Given the description of an element on the screen output the (x, y) to click on. 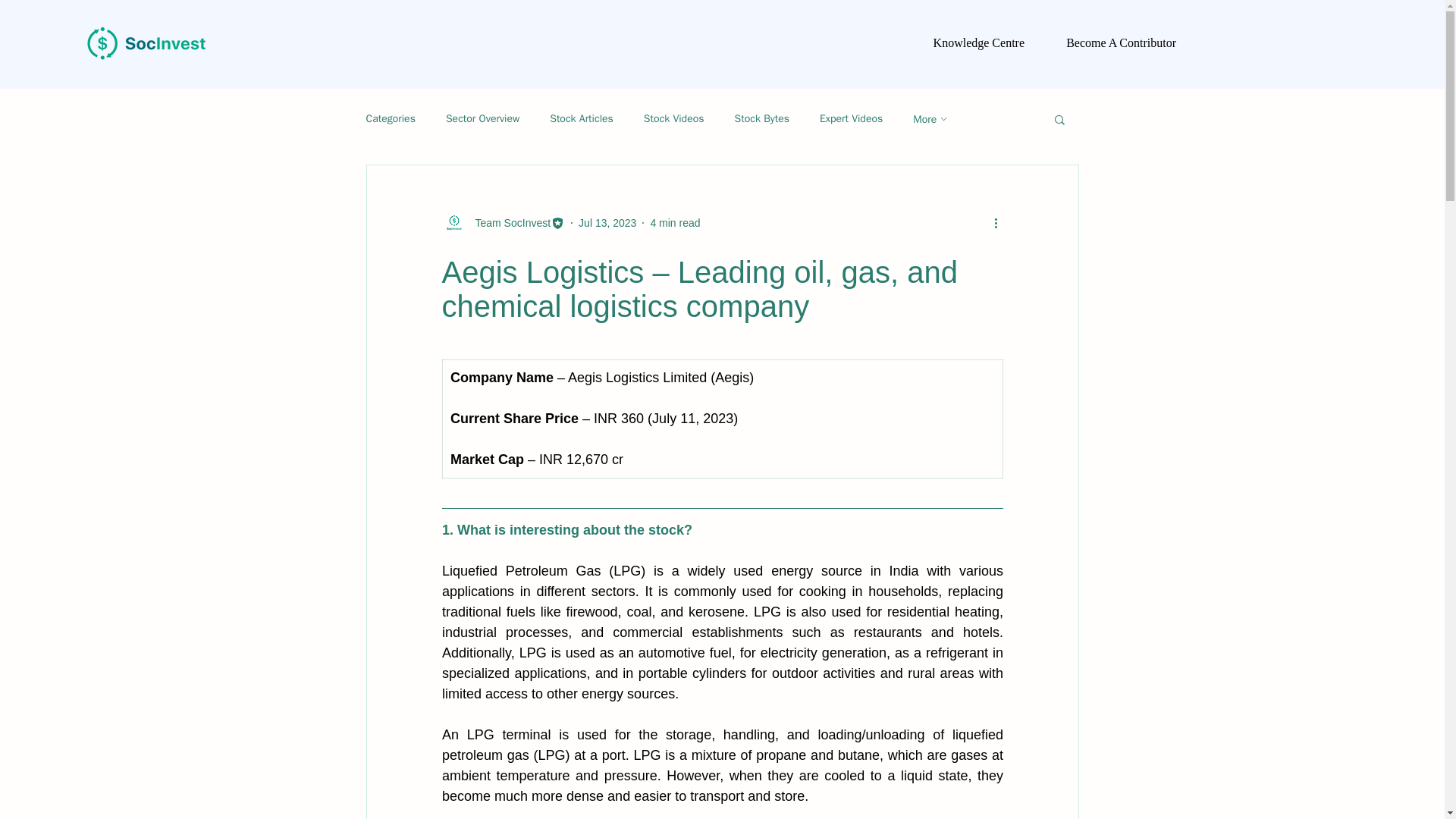
Expert Videos (850, 119)
Sector Overview (482, 119)
Knowledge Centre (967, 43)
Team SocInvest (502, 222)
Become A Contributor (1107, 43)
Stock Videos (673, 119)
Frame 673.png (146, 42)
4 min read (674, 223)
Categories (389, 119)
Jul 13, 2023 (607, 223)
